Given the description of an element on the screen output the (x, y) to click on. 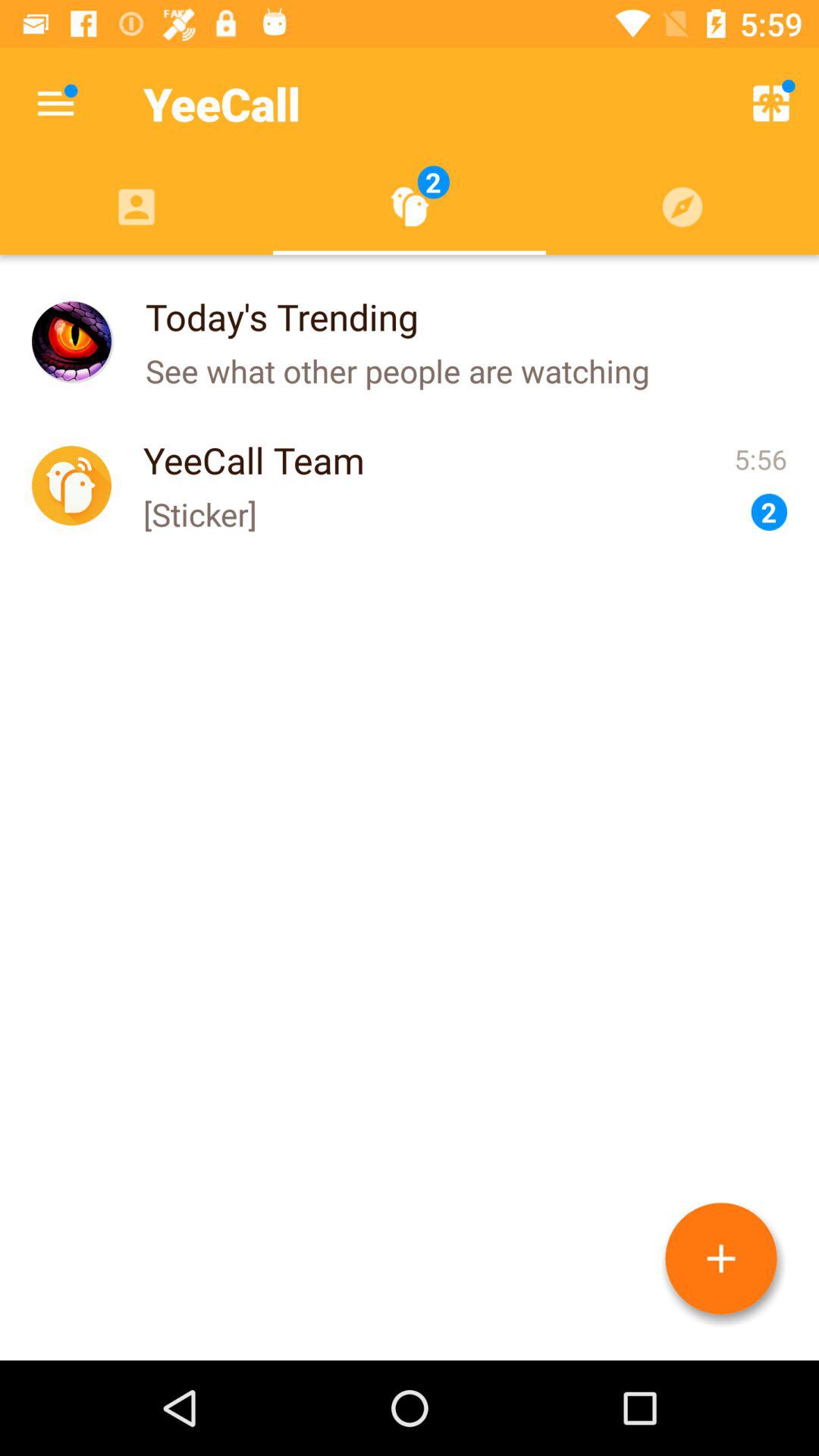
add call (721, 1258)
